Given the description of an element on the screen output the (x, y) to click on. 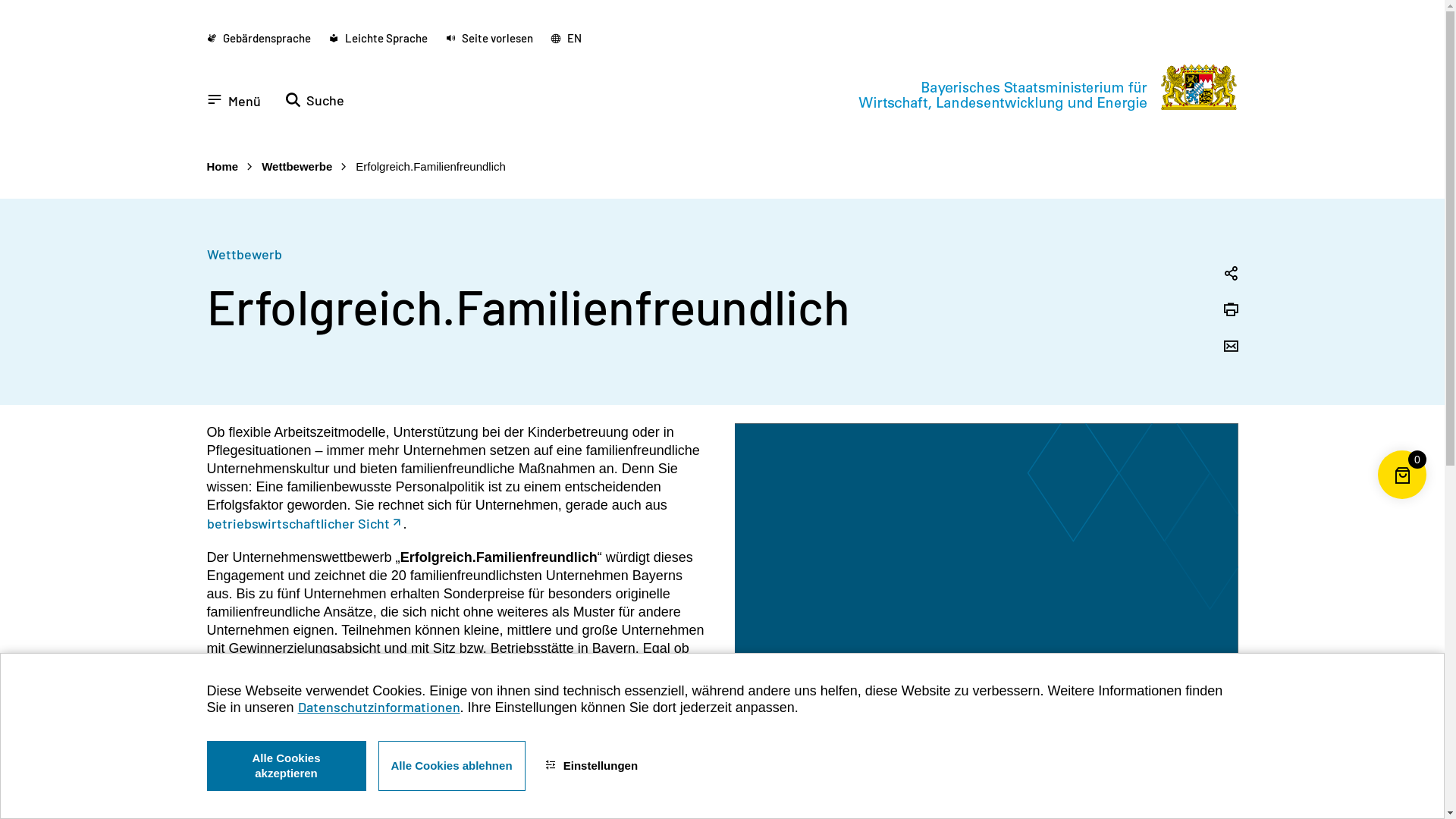
EN Element type: text (565, 38)
Seite drucken Element type: hover (1229, 310)
Wettbewerbe Element type: text (296, 166)
betriebswirtschaftlicher Sicht Element type: text (304, 522)
Datenschutzinformationen Element type: text (379, 707)
Home Element type: text (222, 166)
Erfolgreich.Familienfreundlich Element type: text (430, 166)
Seite per Email versenden Element type: hover (1229, 347)
Seitenlink in die Zwischenablage kopieren Element type: hover (1229, 274)
Suche Element type: text (314, 99)
Einstellungen Element type: text (591, 765)
Leichte Sprache Element type: text (378, 38)
0 Element type: text (1401, 498)
Seite vorlesen Element type: text (489, 38)
Wettbewerb Element type: text (243, 253)
Alle Cookies akzeptieren Element type: text (285, 765)
Alle Cookies ablehnen Element type: text (450, 765)
